Given the description of an element on the screen output the (x, y) to click on. 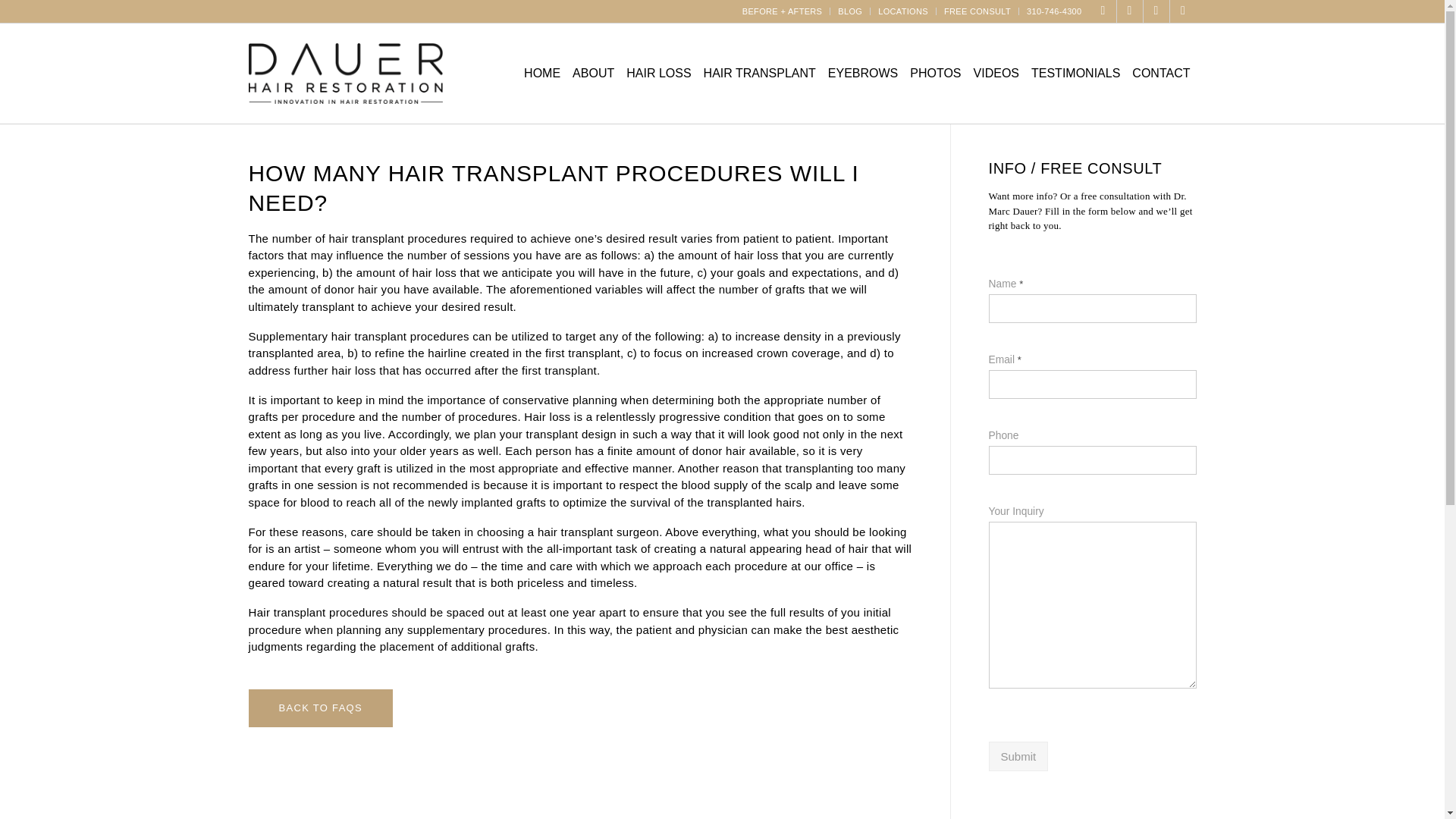
Facebook (1103, 11)
BLOG (849, 11)
FREE CONSULT (976, 11)
LOCATIONS (902, 11)
Twitter (1182, 11)
310-746-4300 (1053, 11)
HAIR TRANSPLANT (759, 73)
Instagram (1155, 11)
Youtube (1128, 11)
